Given the description of an element on the screen output the (x, y) to click on. 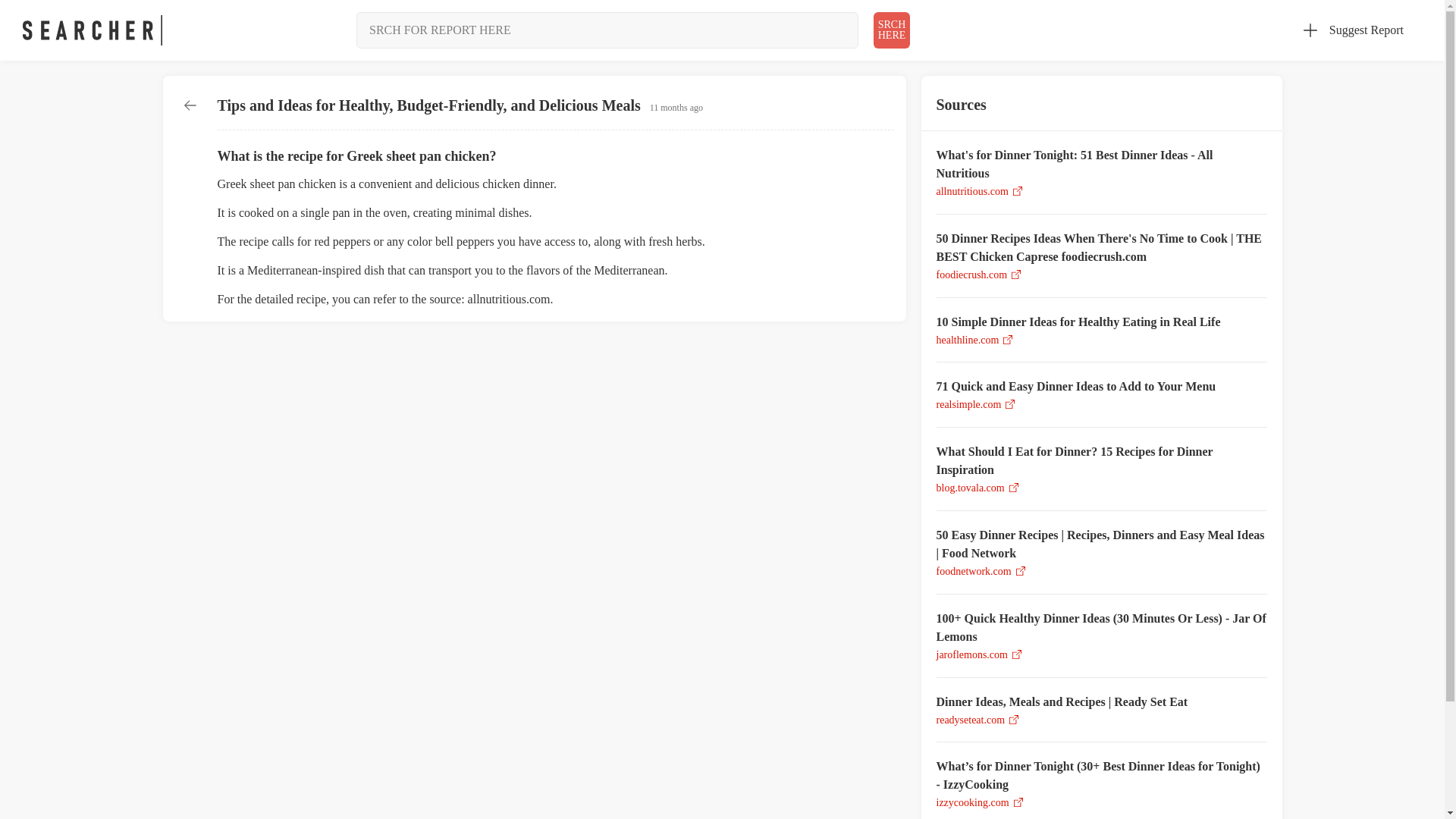
10 Simple Dinner Ideas for Healthy Eating in Real Life (1101, 321)
foodnetwork.com (973, 571)
allnutritious.com (971, 191)
blog.tovala.com (970, 487)
jaroflemons.com (971, 654)
foodiecrush.com (971, 274)
71 Quick and Easy Dinner Ideas to Add to Your Menu (891, 30)
realsimple.com (1101, 386)
Go home link (968, 404)
healthline.com (92, 30)
Suggest Report (967, 339)
